Given the description of an element on the screen output the (x, y) to click on. 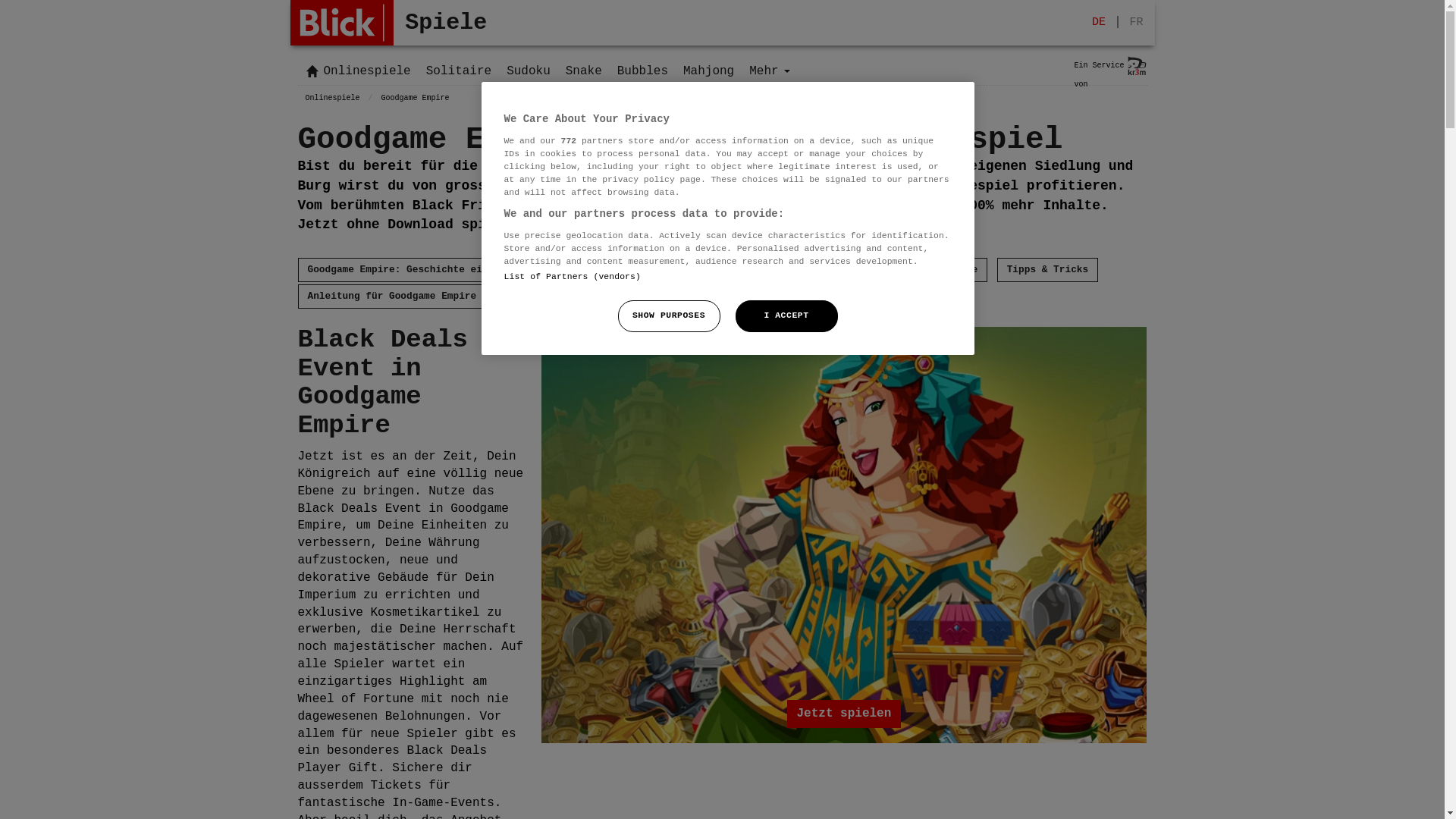
SHOW PURPOSES Element type: text (668, 316)
Onlinespiele Element type: text (328, 103)
I ACCEPT Element type: text (786, 316)
Sudoku Element type: text (528, 65)
List of Partners (vendors) Element type: text (571, 276)
Tipps & Tricks Element type: text (1047, 269)
Jetzt spielen Element type: text (844, 713)
Snake Element type: text (583, 65)
Mehr Element type: text (769, 65)
Bubbles Element type: text (642, 65)
So geht Goodgame Empire Element type: text (910, 269)
Jetzt spielen Element type: text (842, 534)
Goodgame Empire: Der gratis Klassiker Element type: text (706, 269)
FR Element type: text (1135, 22)
Mahjong Element type: text (708, 65)
Goodgame Empire starten Element type: hover (843, 534)
Onlinespiele Element type: text (358, 65)
Solitaire Element type: text (458, 65)
